Given the description of an element on the screen output the (x, y) to click on. 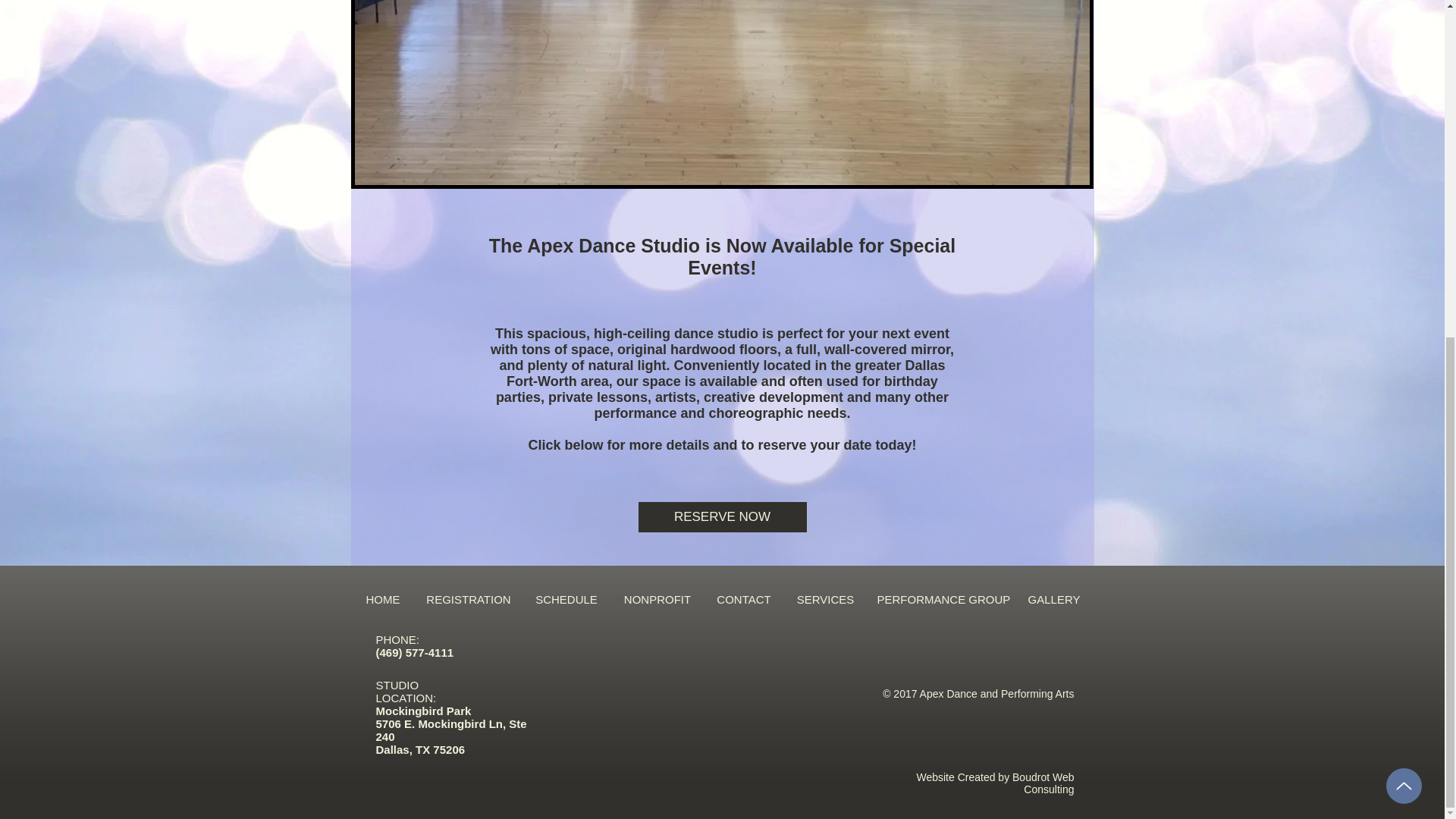
Dallas, TX 75206  (421, 748)
SCHEDULE (565, 599)
5706 E. Mockingbird Ln, Ste 240 (451, 729)
PERFORMANCE GROUP (940, 599)
Mockingbird Park (423, 710)
Website Created by Boudrot Web Consulting (994, 783)
GALLERY (1054, 599)
HOME (382, 599)
CONTACT (743, 599)
RESERVE NOW (722, 517)
